Given the description of an element on the screen output the (x, y) to click on. 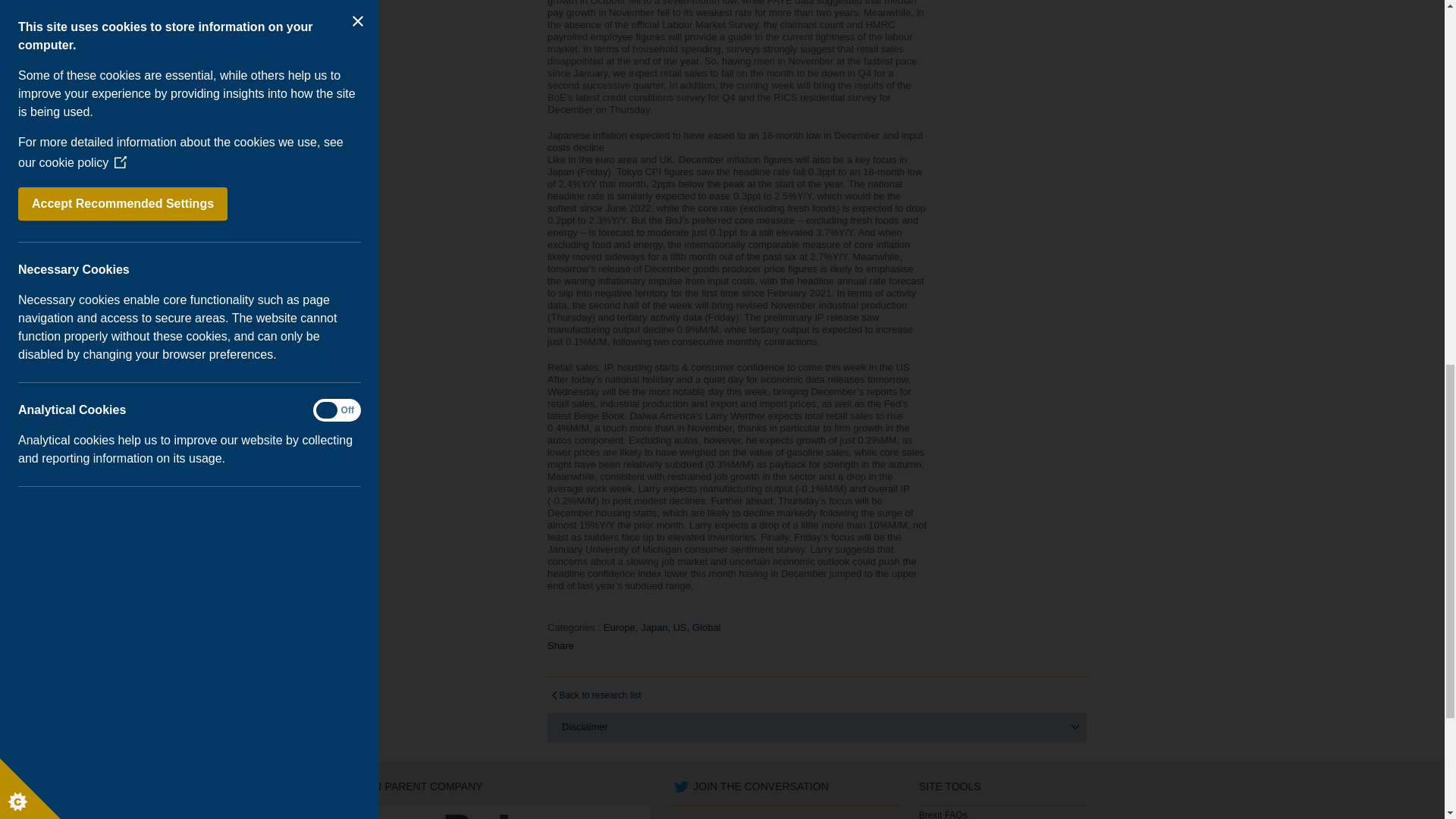
Europe (622, 627)
US (682, 627)
Japan (656, 627)
Global (708, 627)
